Given the description of an element on the screen output the (x, y) to click on. 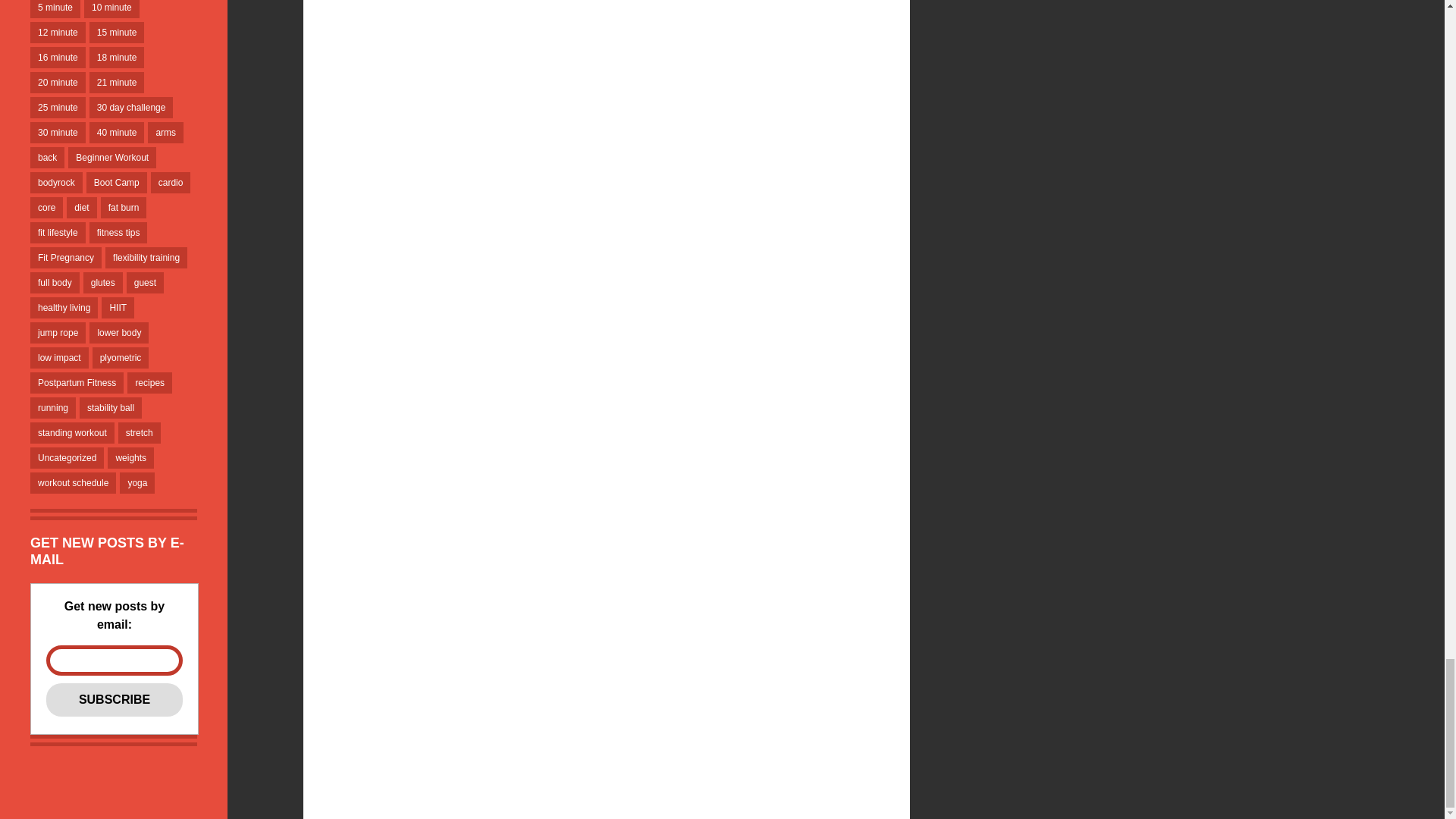
30 minute (57, 132)
Subscribe (114, 699)
back (47, 157)
5 minute (55, 9)
40 minute (116, 132)
Beginner Workout (111, 157)
30 day challenge (130, 107)
21 minute (116, 82)
arms (165, 132)
25 minute (57, 107)
